Given the description of an element on the screen output the (x, y) to click on. 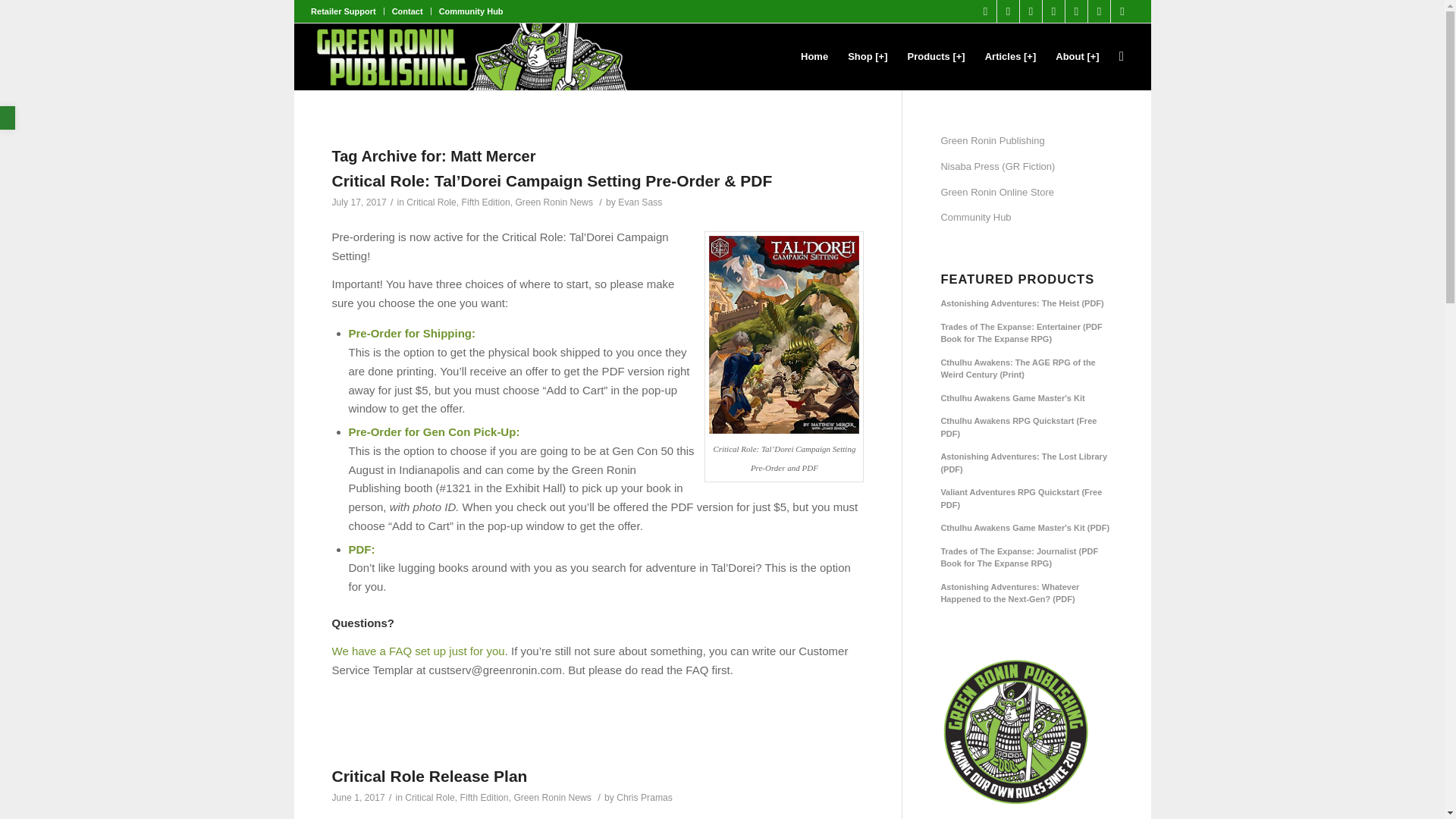
Retailer Support (343, 11)
Community Hub (471, 11)
Contact Green Ronin (407, 11)
Contact (407, 11)
Retailer Support (343, 11)
